Given the description of an element on the screen output the (x, y) to click on. 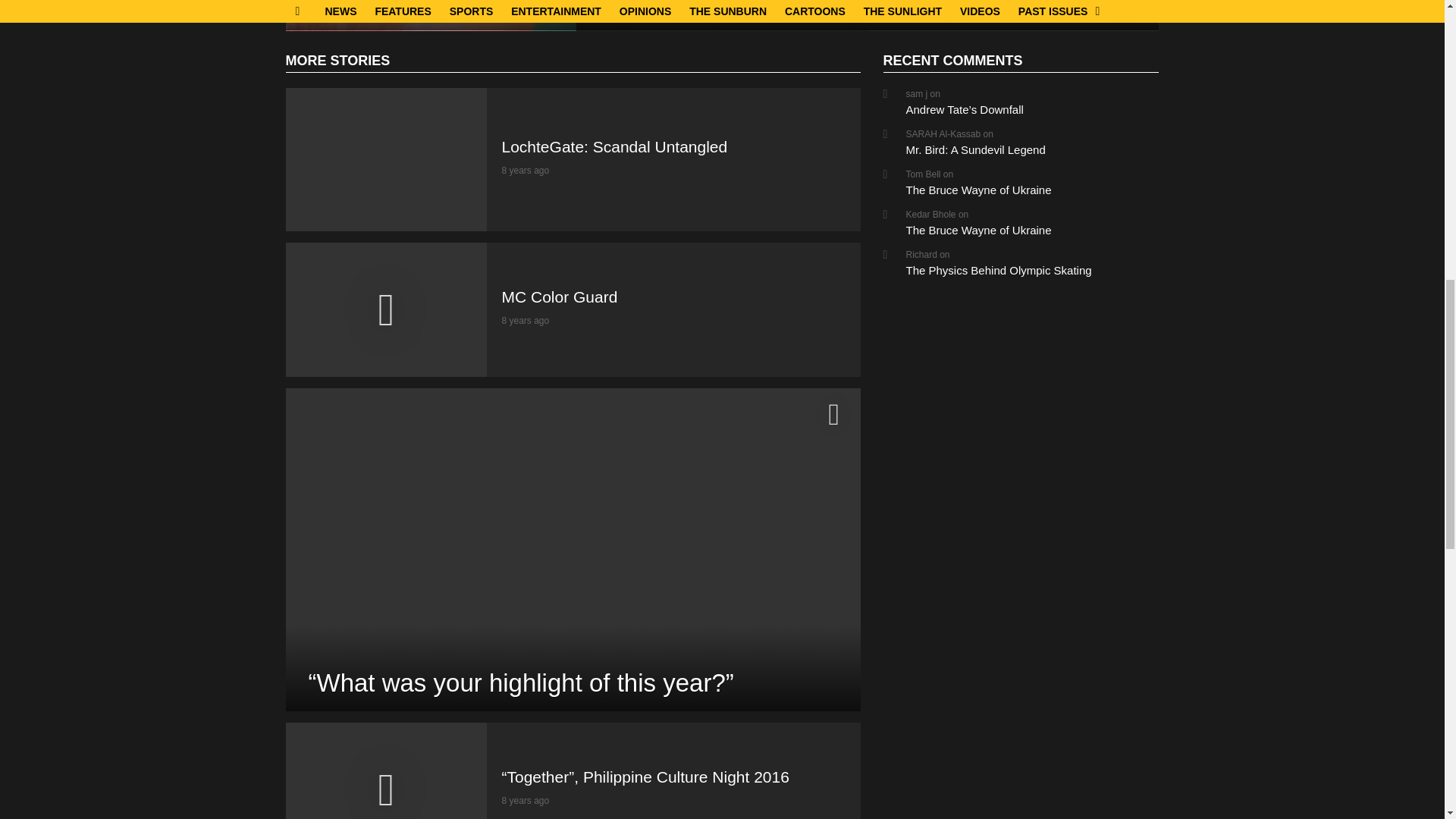
MC Color Guard (385, 308)
LochteGate: Scandal Untangled (615, 146)
April 26, 2016, 9:22 am (526, 800)
LochteGate: Scandal Untangled (385, 158)
Winter Pep Rally Highlights (978, 7)
MC Color Guard (559, 296)
LochteGate: Scandal Untangled (430, 15)
LochteGate: Scandal Untangled (412, 7)
June 10, 2016, 10:21 am (526, 320)
September 7, 2016, 8:24 am (526, 170)
